Given the description of an element on the screen output the (x, y) to click on. 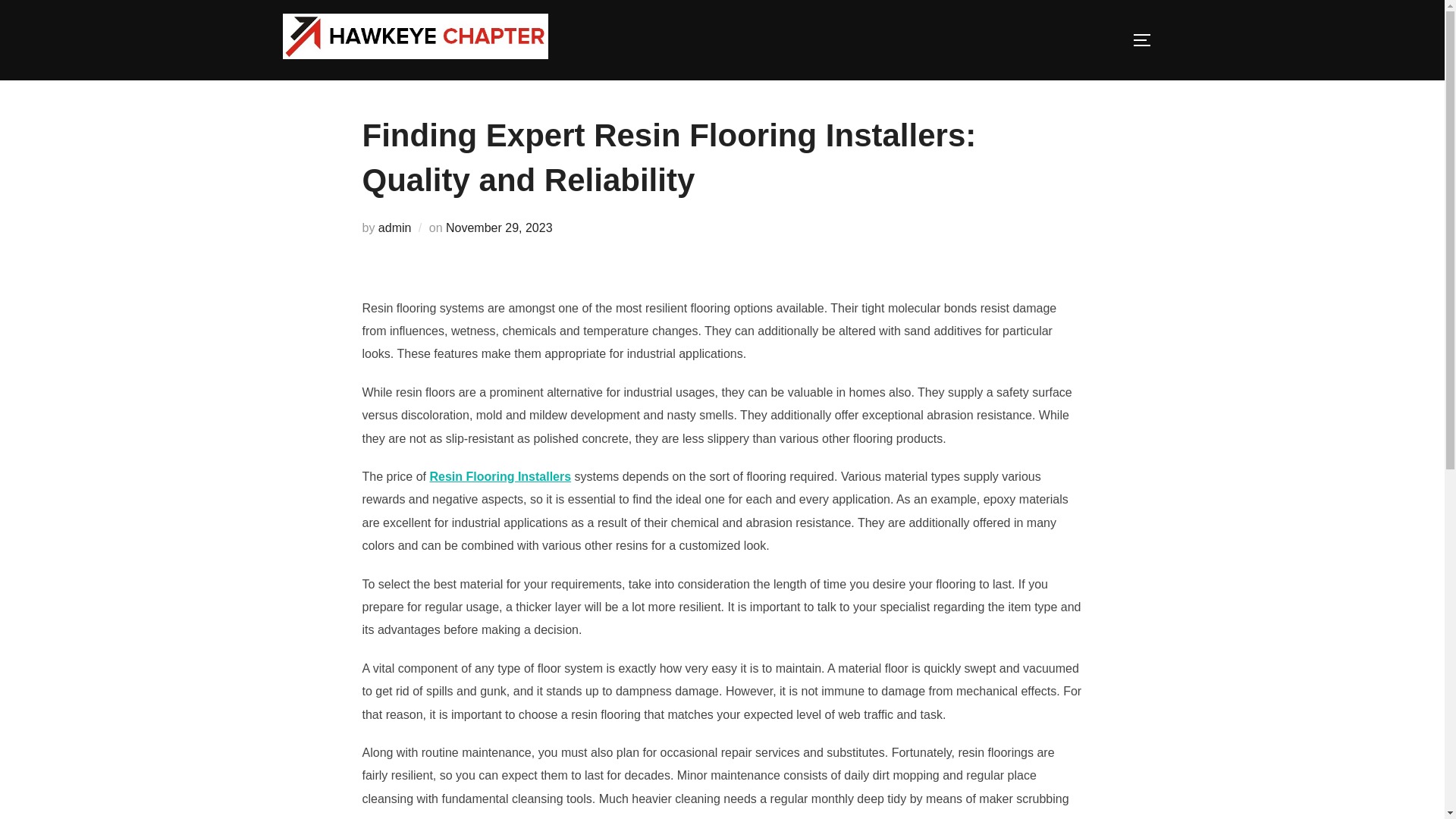
admin (395, 227)
November 29, 2023 (499, 227)
Resin Flooring Installers (499, 476)
